Given the description of an element on the screen output the (x, y) to click on. 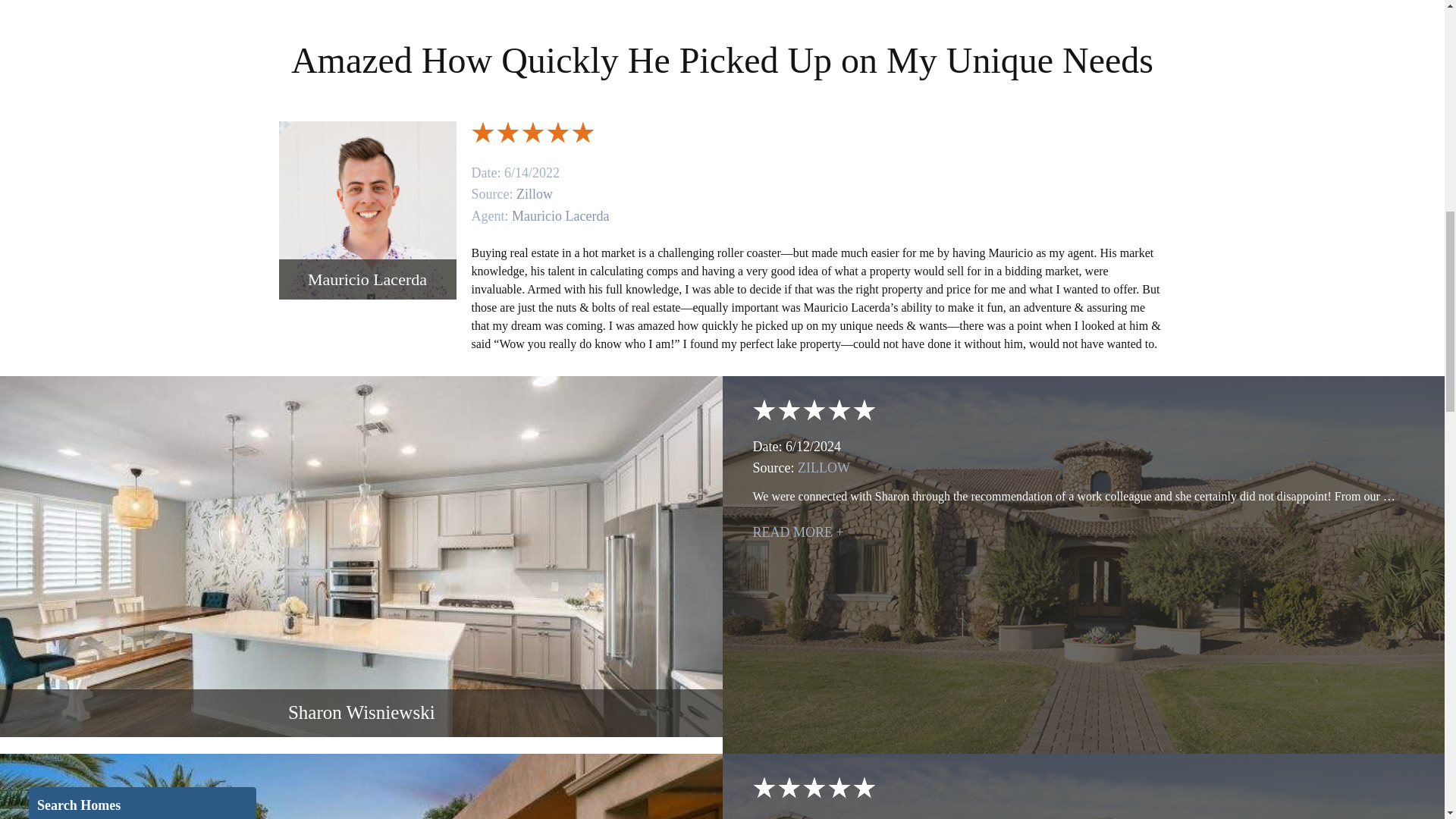
Search (112, 346)
